Given the description of an element on the screen output the (x, y) to click on. 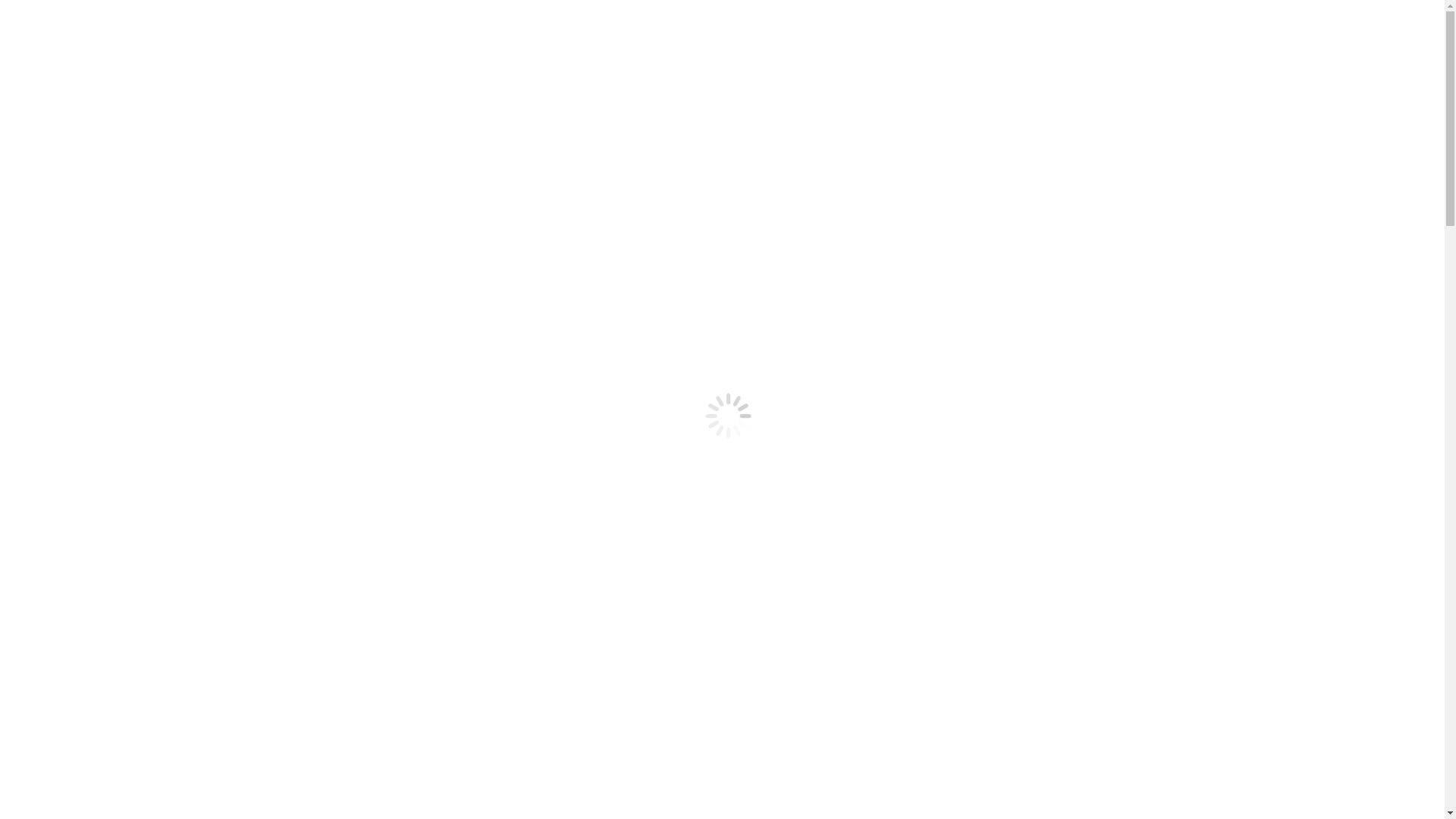
Book a Class Element type: text (68, 184)
Contact Us Element type: text (63, 225)
Nutrition Element type: text (88, 171)
Personal Training Element type: text (109, 157)
Newsletter Element type: text (62, 212)
About Element type: text (51, 265)
Group Exercise Element type: text (104, 144)
Services Element type: text (56, 279)
About Element type: text (51, 116)
Services Element type: text (56, 130)
Nutrition Element type: text (88, 319)
Sign In Element type: text (54, 388)
Newsletter Element type: text (62, 360)
Sign In Element type: text (54, 239)
Skip to content Element type: text (42, 12)
Personal Training Element type: text (109, 306)
Personal Training & Studio Store Element type: text (116, 347)
Group Exercise Element type: text (104, 292)
Book a Class Element type: text (68, 333)
Personal Training & Studio Store Element type: text (116, 198)
Contact Us Element type: text (63, 374)
